Given the description of an element on the screen output the (x, y) to click on. 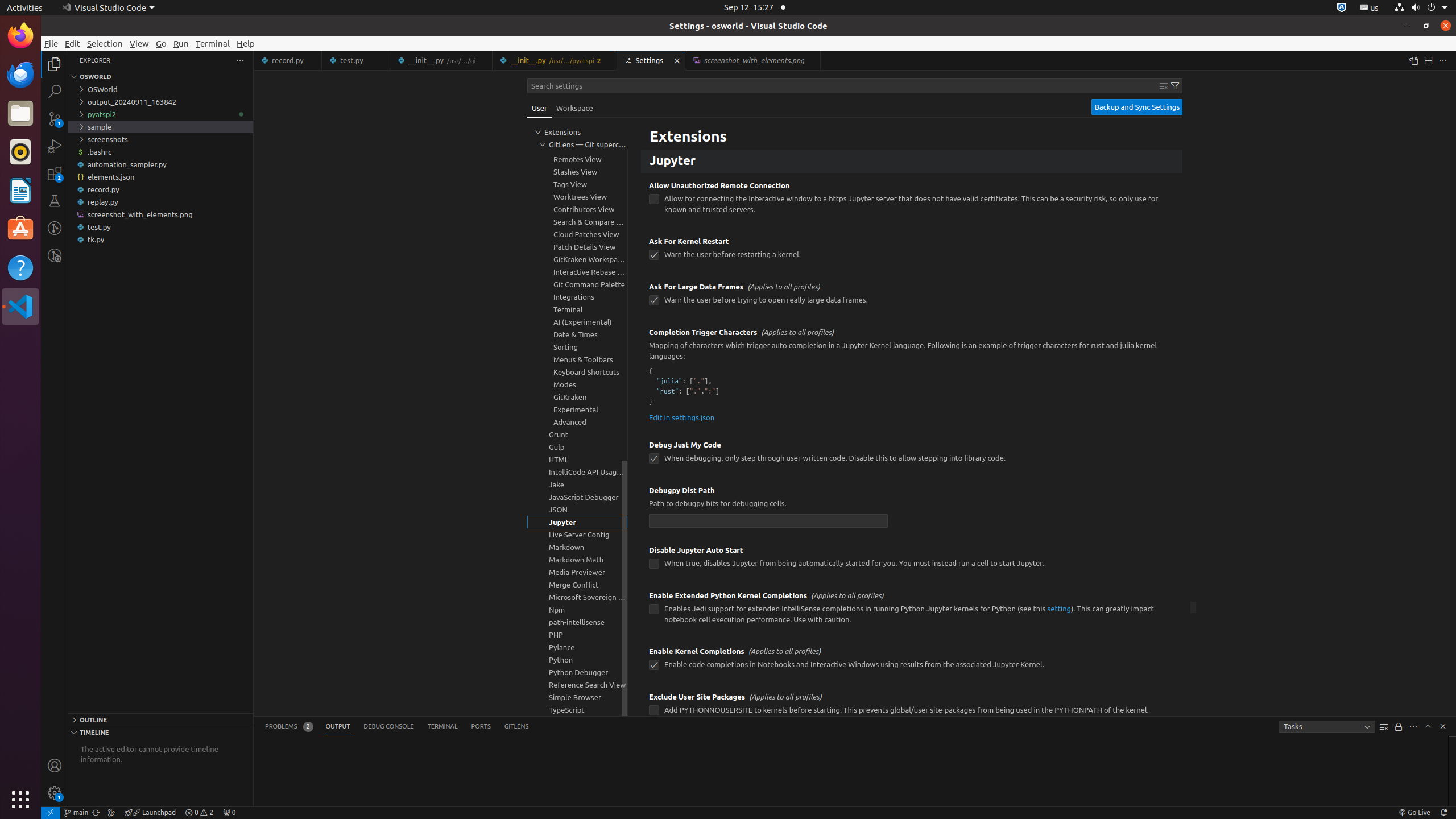
 Enable Extended Python Kernel Completions. Setting value retained when switching profiles. Enables Jedi support for extended IntelliSense completions in running Python Jupyter kernels for Python (see this setting). This can greatly impact notebook cell execution performance. Use with caution.  Element type: tree-item (911, 611)
screenshot_with_elements.png Element type: tree-item (160, 214)
Views and More Actions... Element type: push-button (1413, 726)
Terminal (Ctrl+`) Element type: page-tab (442, 726)
sample Element type: tree-item (160, 126)
